Given the description of an element on the screen output the (x, y) to click on. 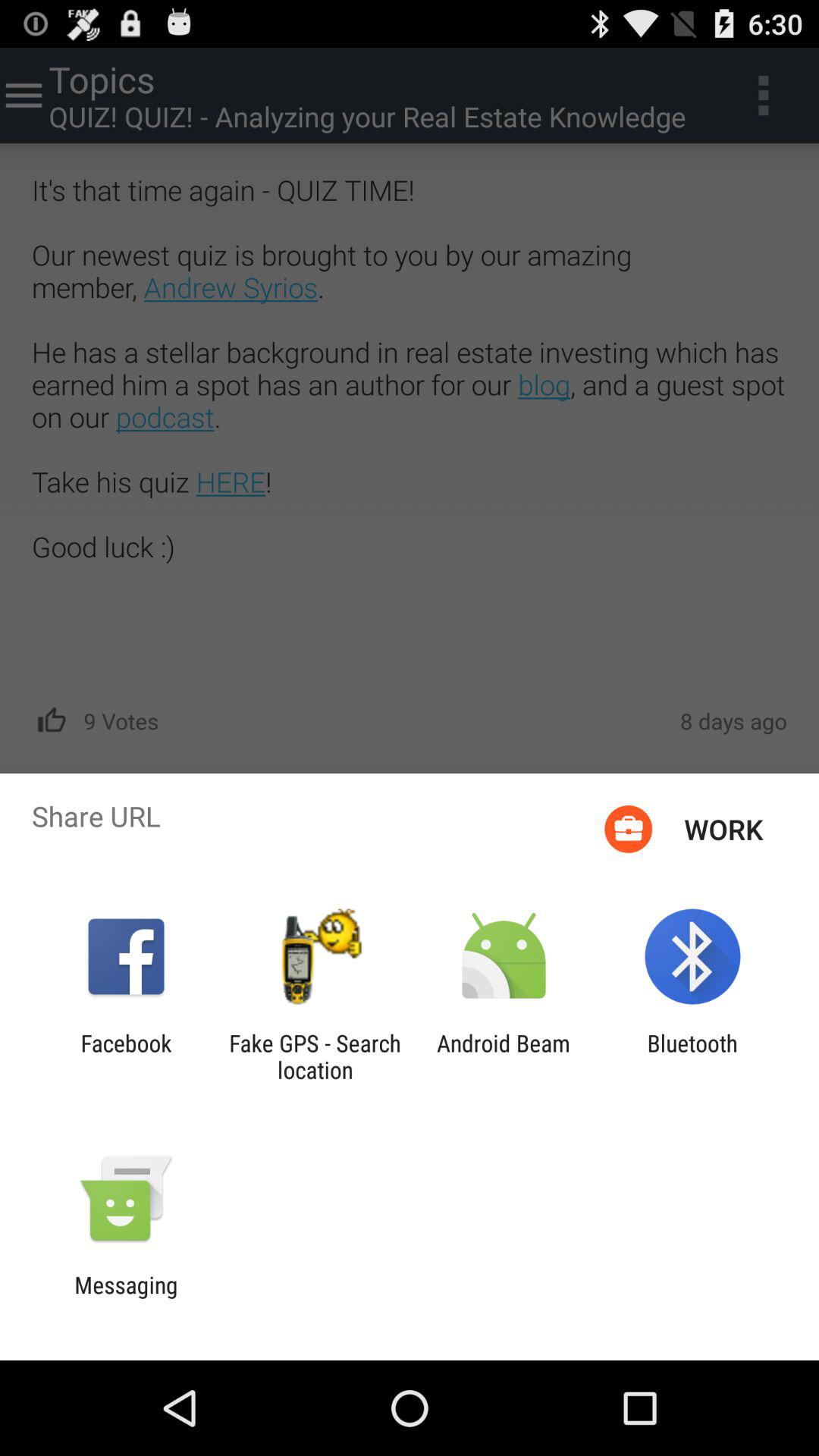
turn on item next to the fake gps search icon (503, 1056)
